Given the description of an element on the screen output the (x, y) to click on. 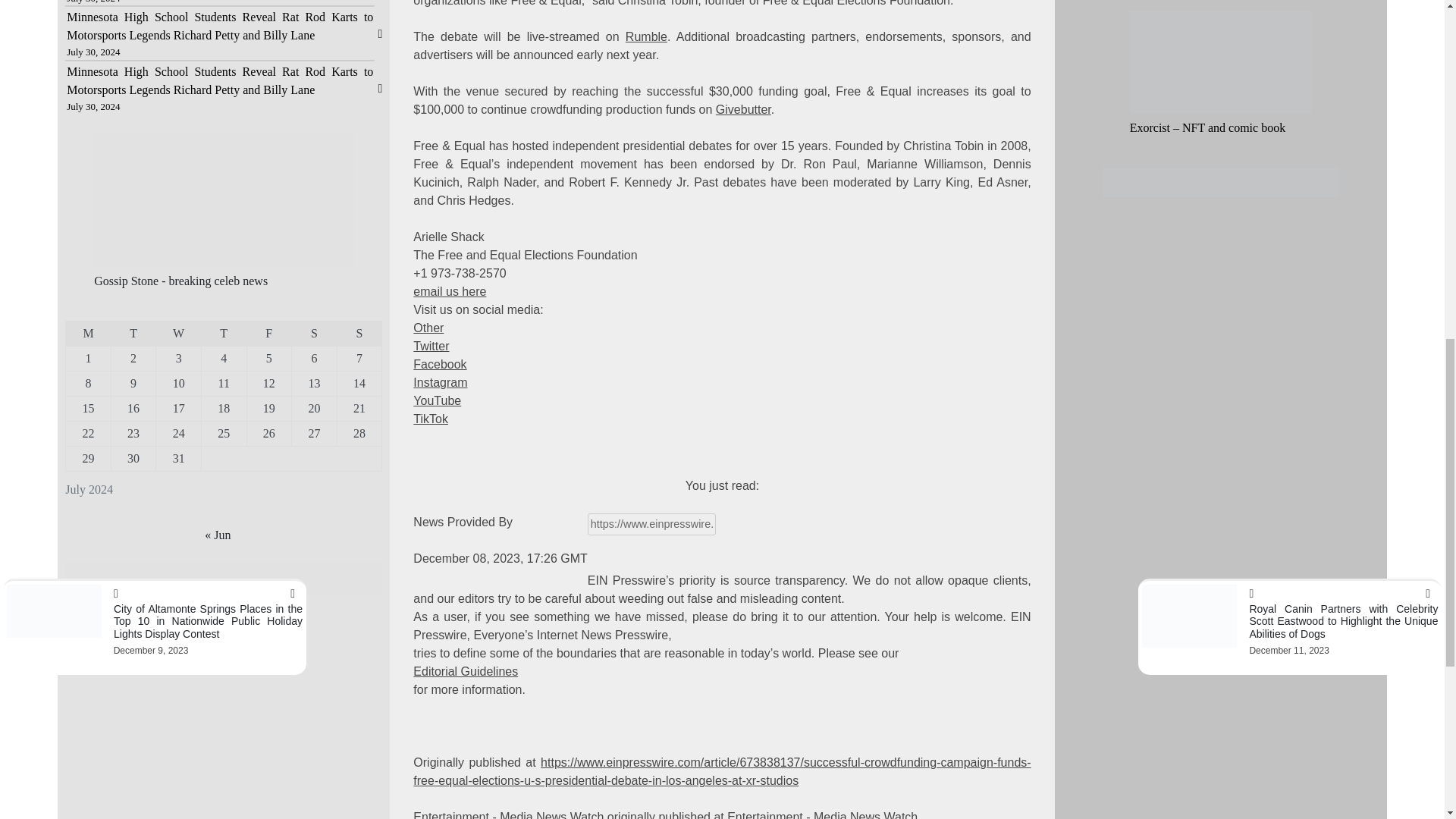
Tuesday (132, 333)
Monday (88, 333)
10 (178, 382)
Wednesday (178, 333)
Saturday (314, 333)
Thursday (223, 333)
Friday (269, 333)
Sunday (358, 333)
Gossip Stone - breaking celeb news (180, 280)
